Given the description of an element on the screen output the (x, y) to click on. 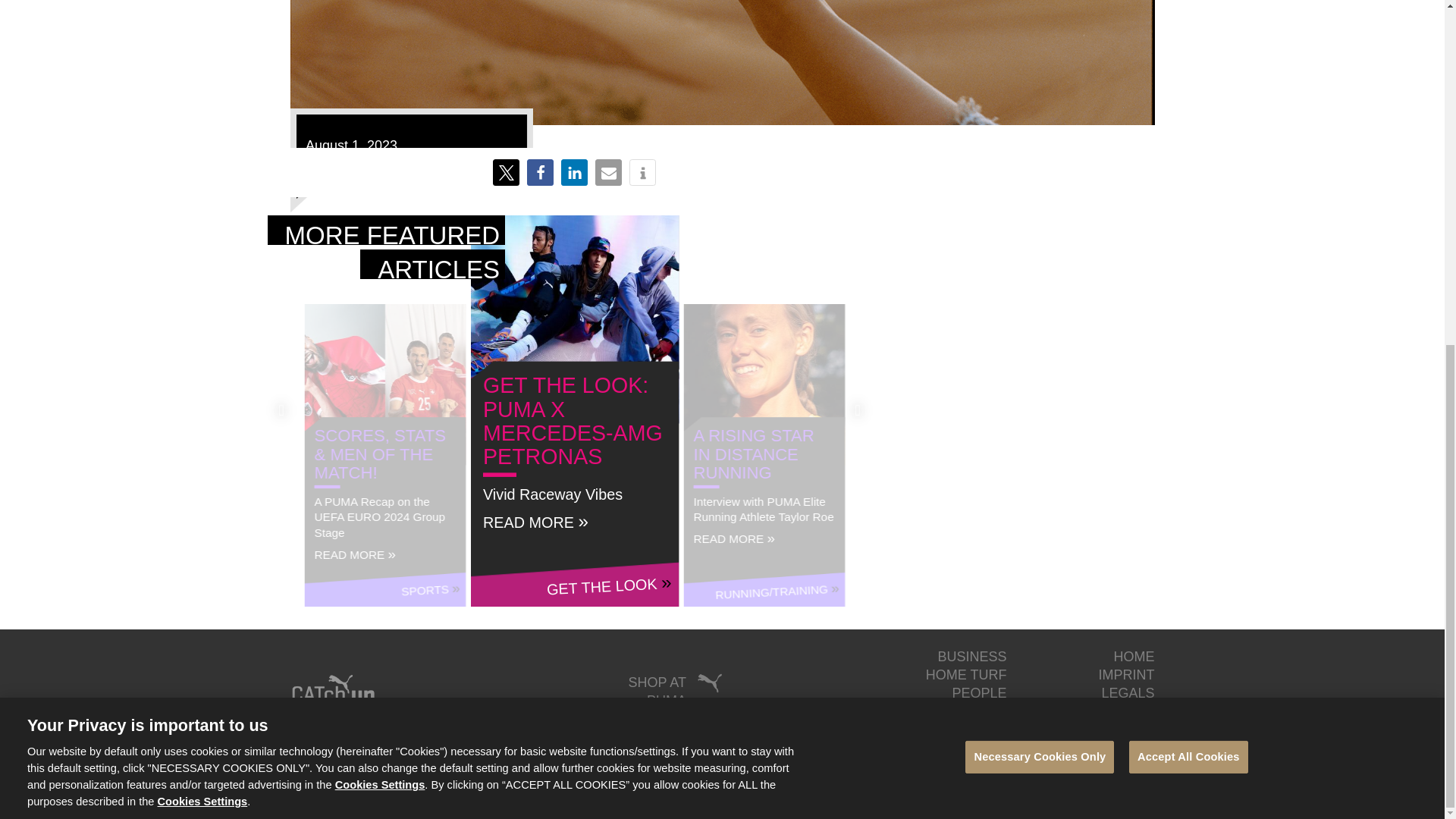
Share on X (506, 171)
Send by email (608, 171)
Share on Facebook (540, 171)
More information (642, 171)
Share on LinkedIn (574, 171)
